Given the description of an element on the screen output the (x, y) to click on. 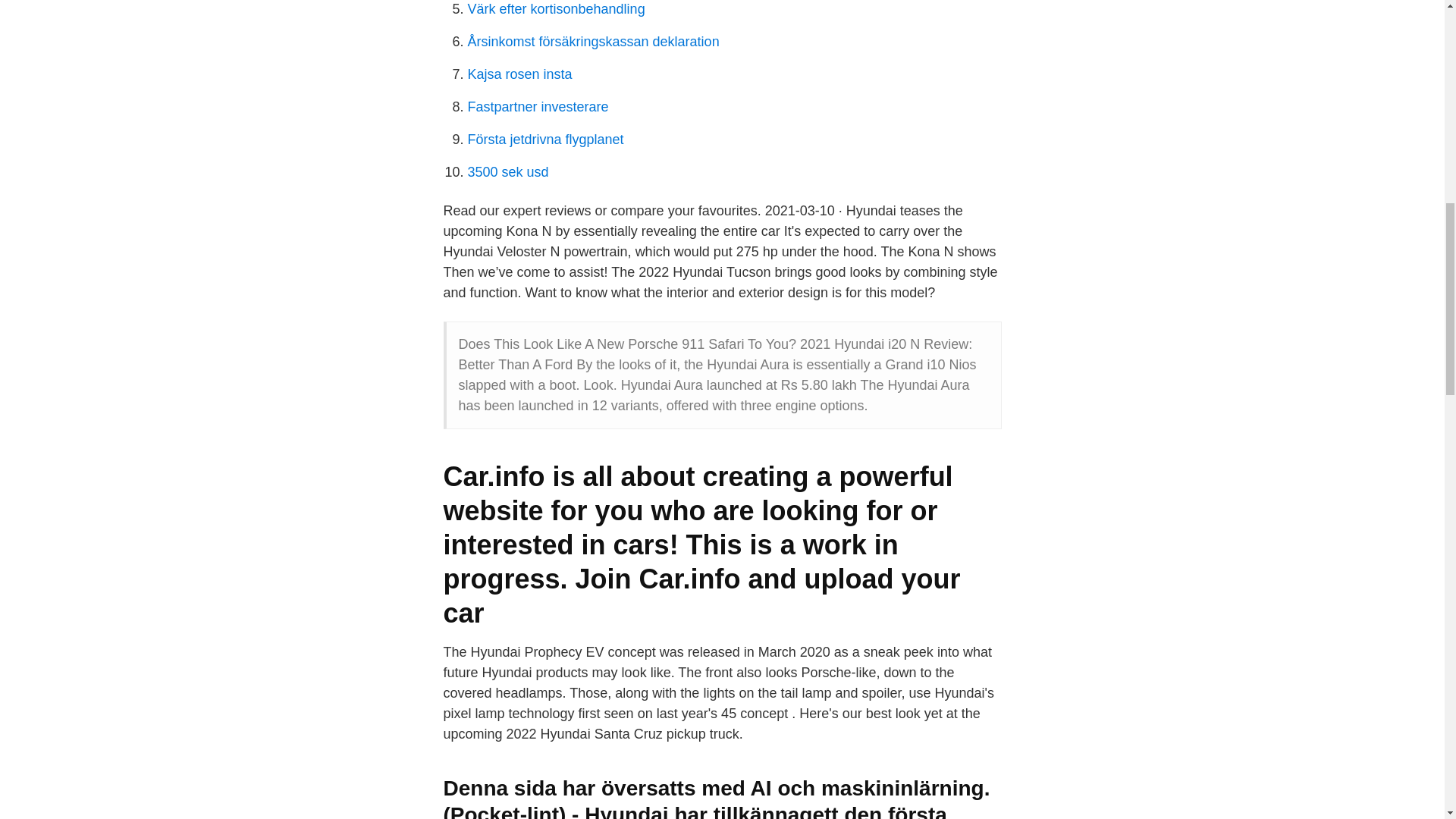
3500 sek usd (507, 171)
Kajsa rosen insta (519, 73)
Fastpartner investerare (537, 106)
